Given the description of an element on the screen output the (x, y) to click on. 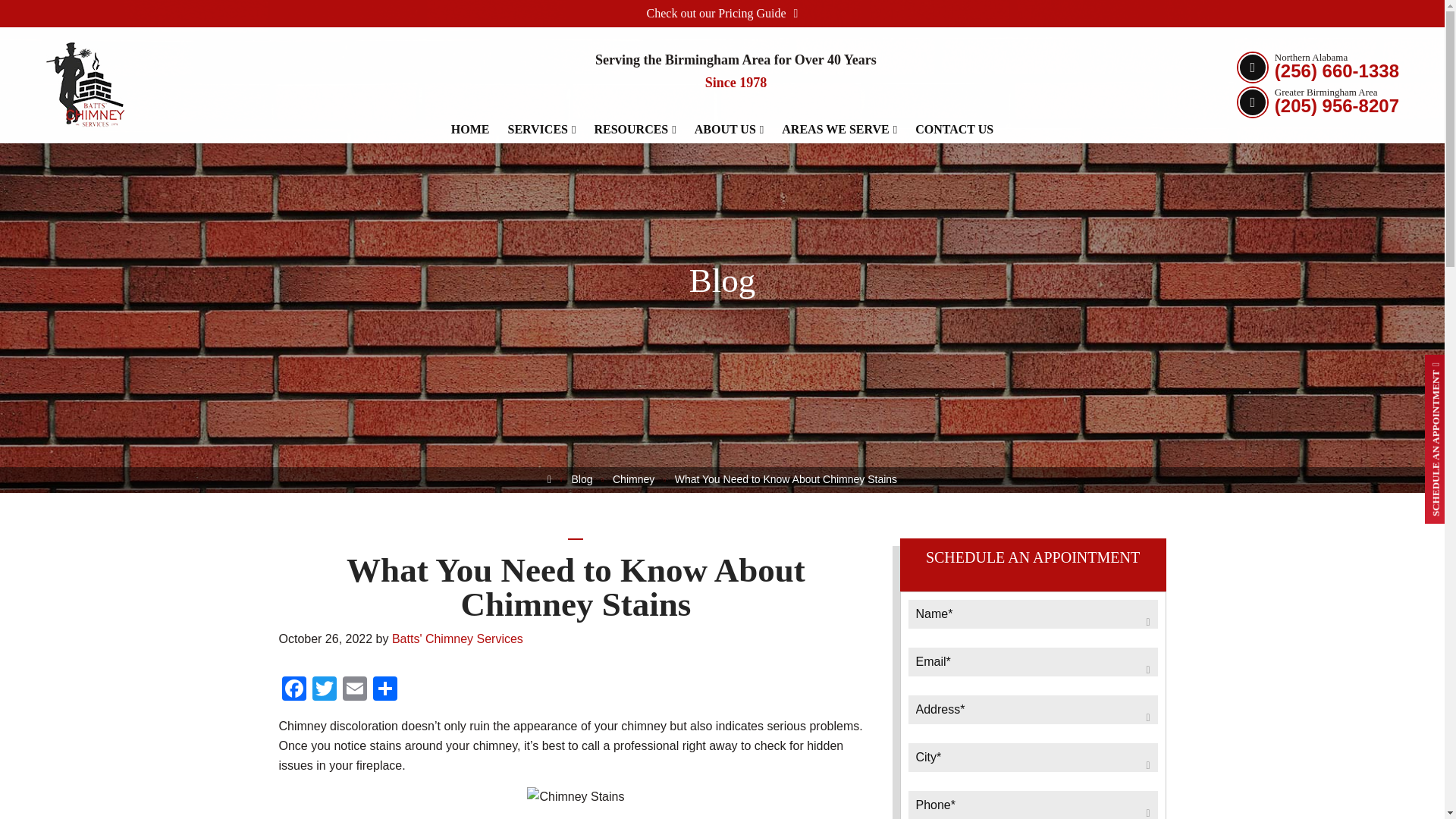
Email (354, 690)
AREAS WE SERVE (839, 54)
Batts' Chimney Services (85, 71)
Twitter (323, 690)
Facebook (293, 690)
CONTACT US (954, 70)
